Given the description of an element on the screen output the (x, y) to click on. 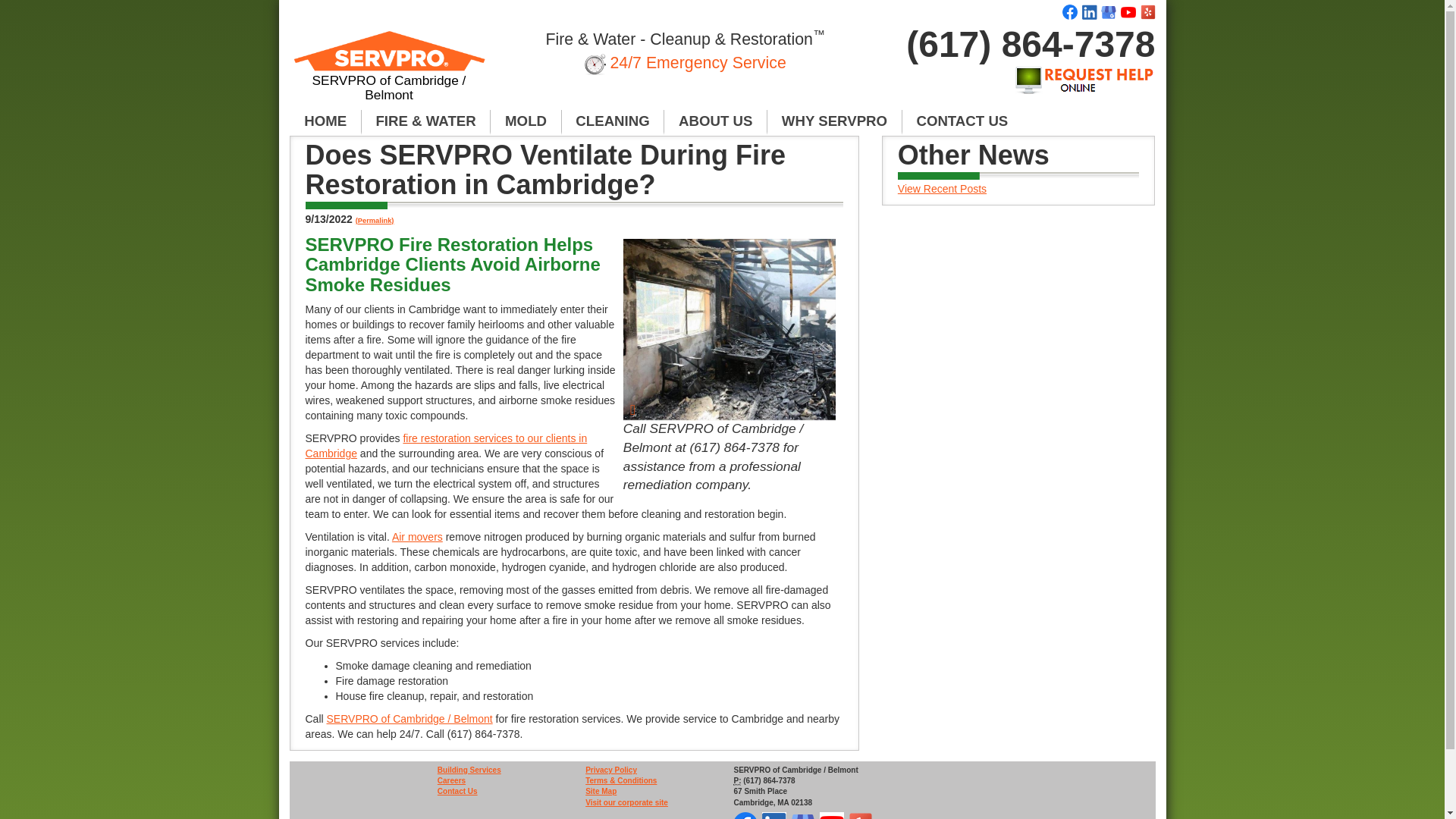
ABOUT US (715, 121)
MOLD (525, 121)
CLEANING (613, 121)
HOME (325, 121)
